Given the description of an element on the screen output the (x, y) to click on. 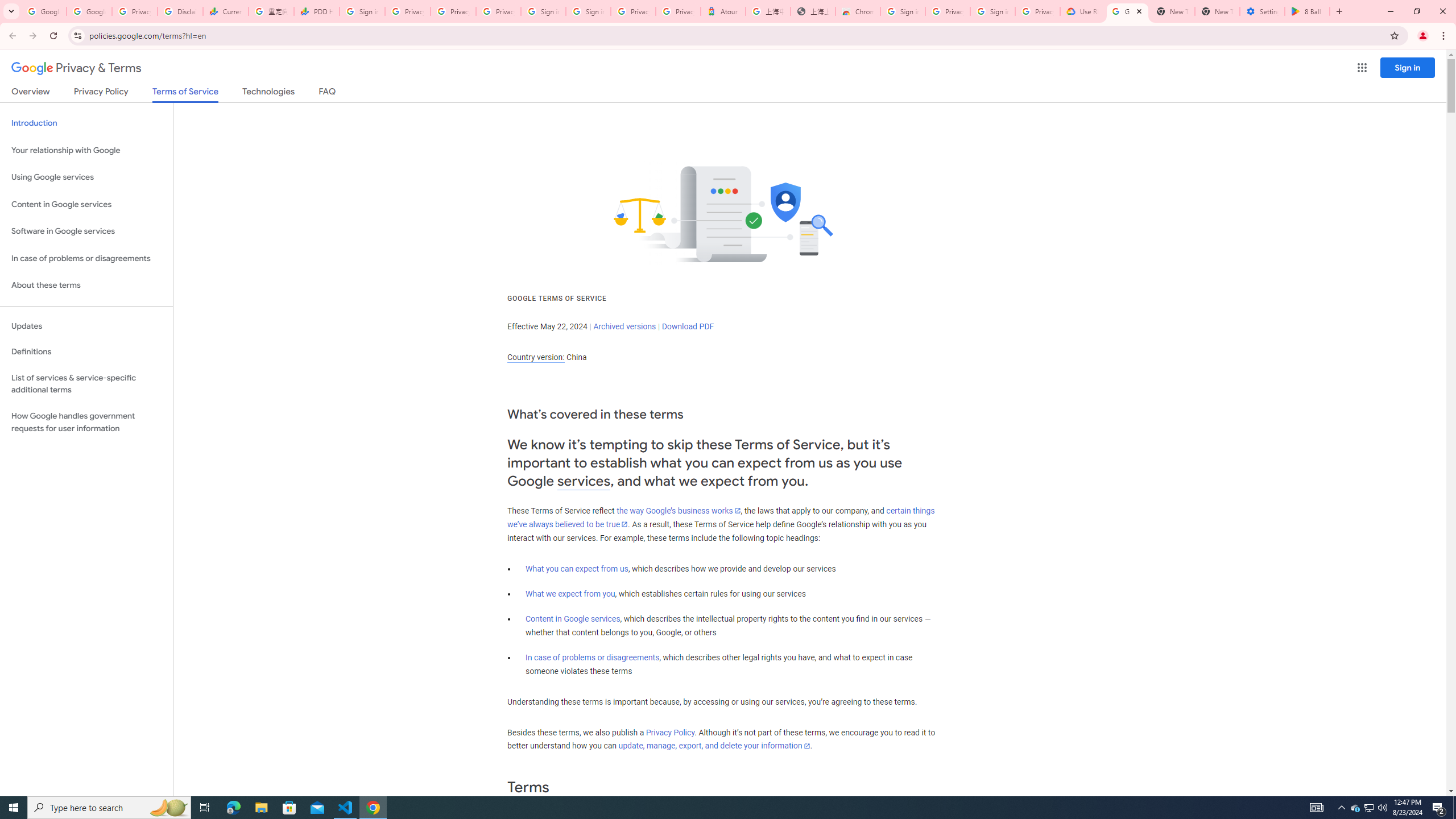
update, manage, export, and delete your information (714, 746)
Atour Hotel - Google hotels (723, 11)
Your relationship with Google (86, 150)
What you can expect from us (576, 568)
Sign in - Google Accounts (542, 11)
